Given the description of an element on the screen output the (x, y) to click on. 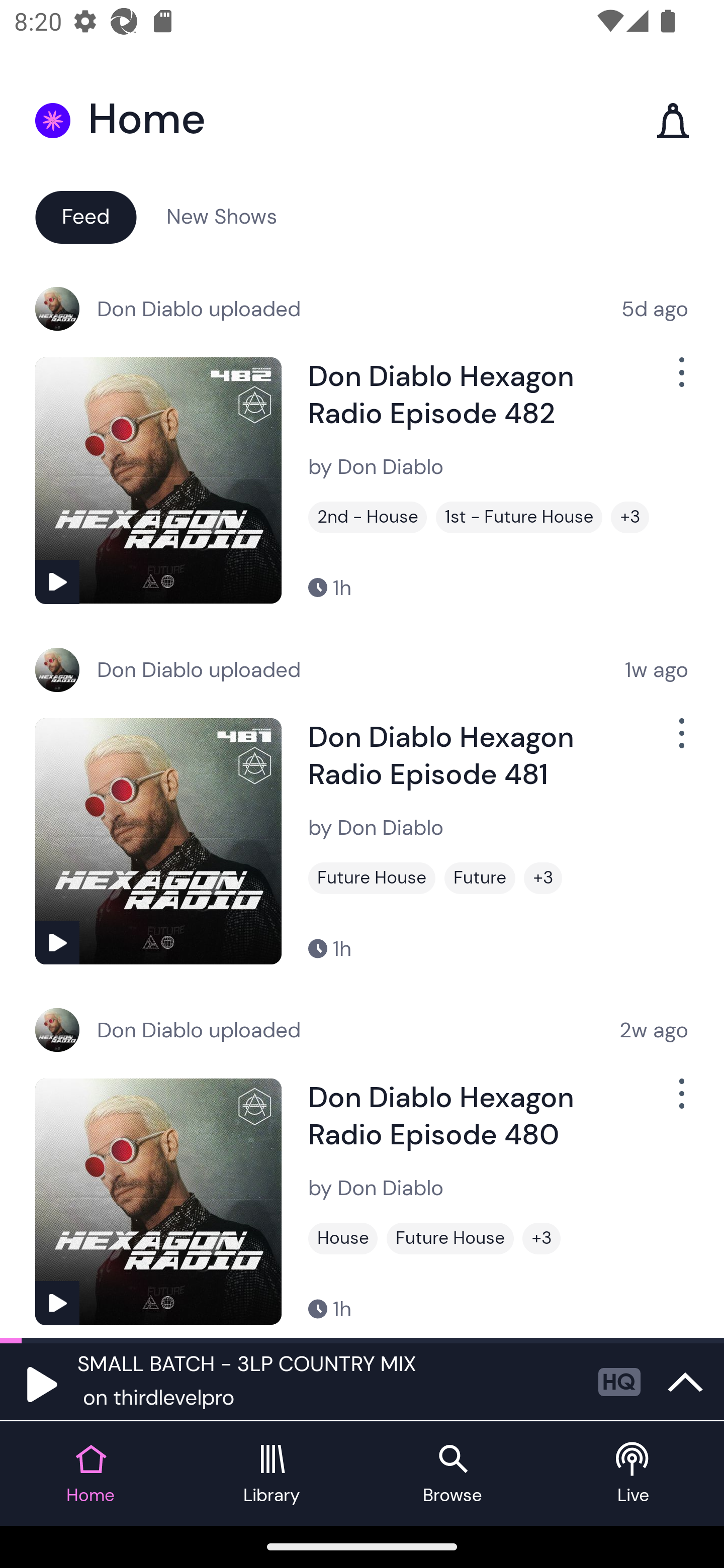
Feed (85, 216)
New Shows (221, 216)
Show Options Menu Button (679, 379)
2nd - House (367, 517)
1st - Future House (518, 517)
Show Options Menu Button (679, 740)
Future House (371, 877)
Future (479, 877)
Show Options Menu Button (679, 1101)
House (342, 1238)
Future House (450, 1238)
Home tab Home (90, 1473)
Library tab Library (271, 1473)
Browse tab Browse (452, 1473)
Live tab Live (633, 1473)
